Given the description of an element on the screen output the (x, y) to click on. 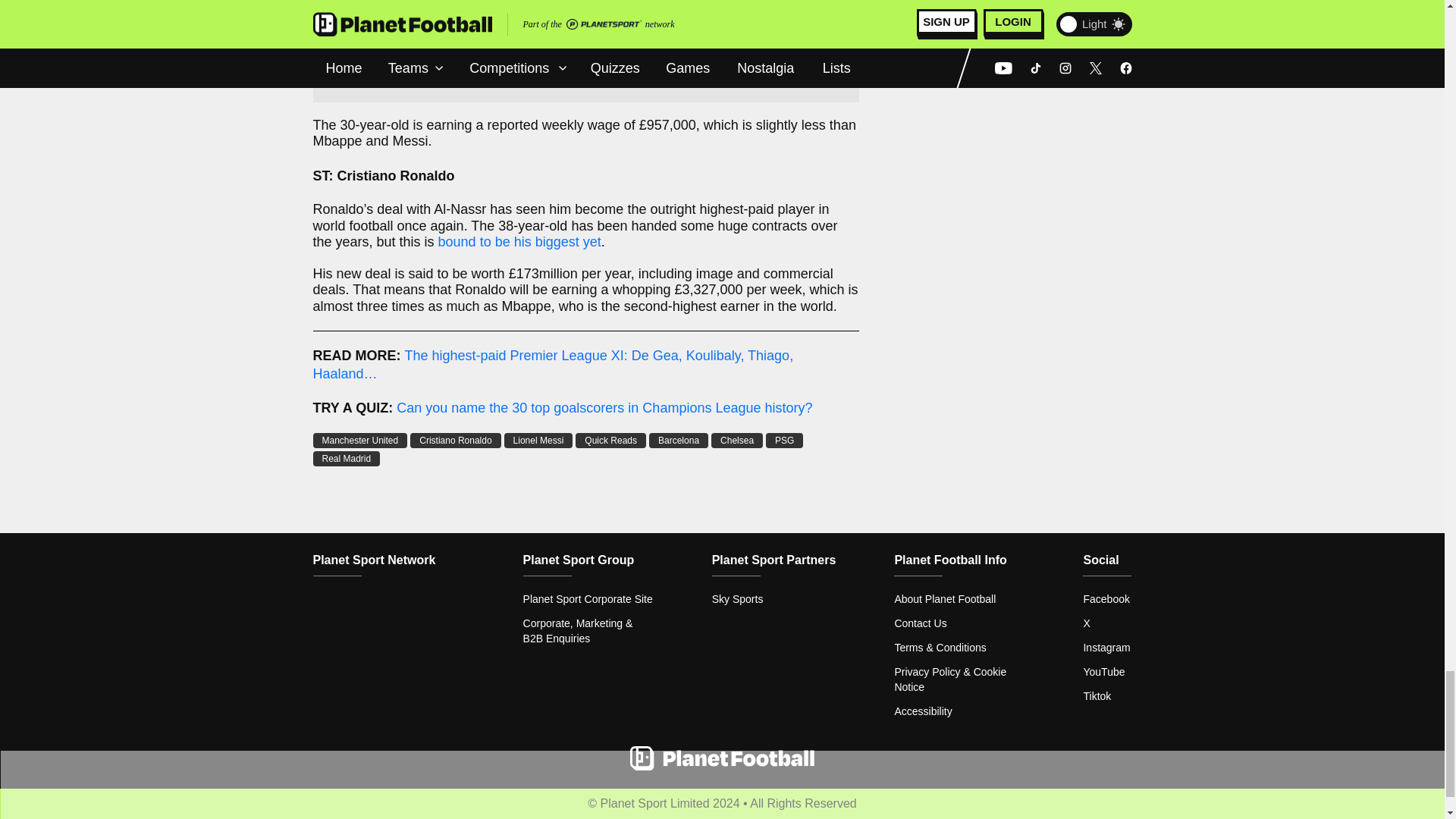
Ad (586, 51)
